Given the description of an element on the screen output the (x, y) to click on. 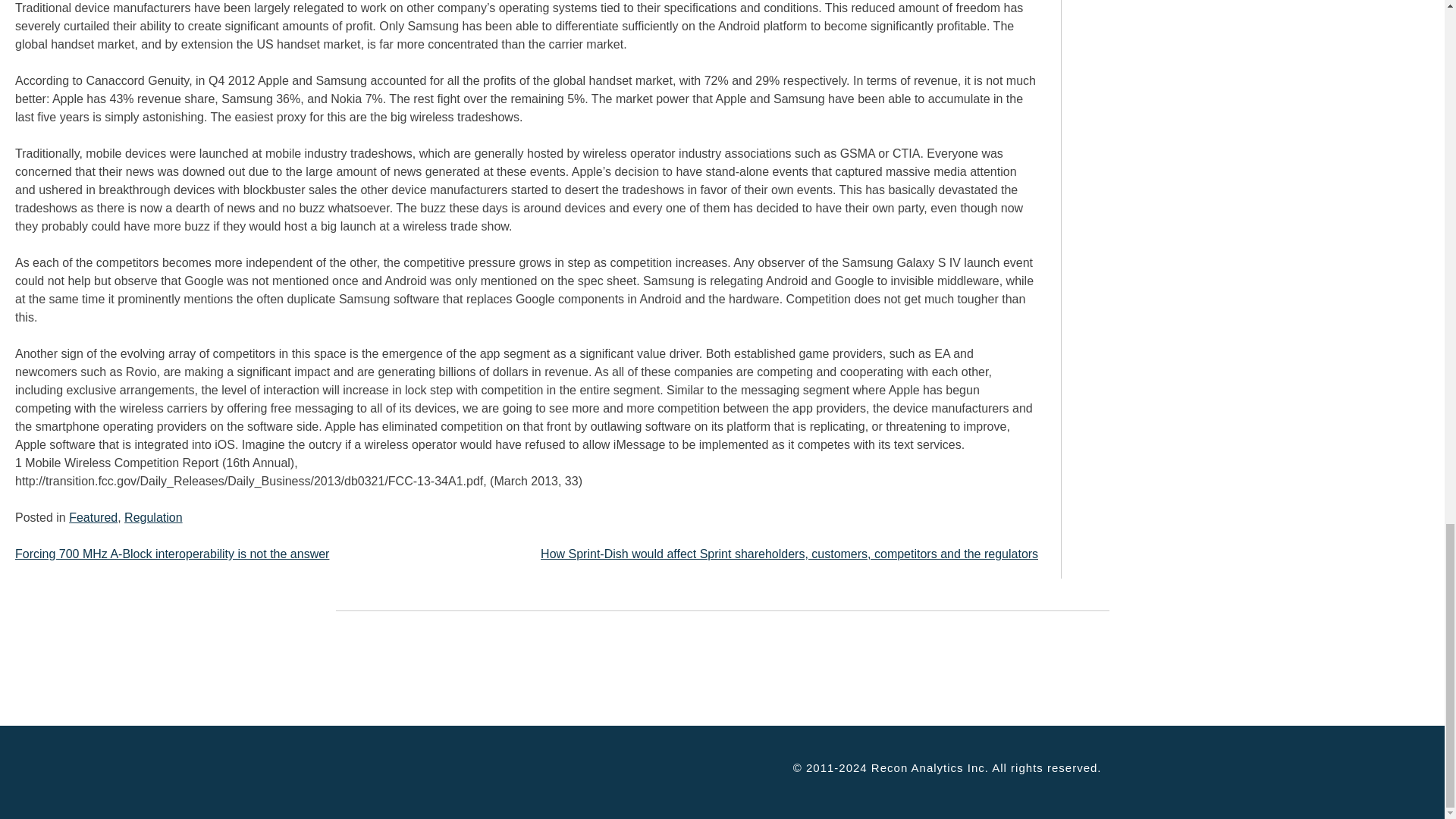
Regulation (153, 517)
Forcing 700 MHz A-Block interoperability is not the answer (171, 553)
Featured (92, 517)
